Given the description of an element on the screen output the (x, y) to click on. 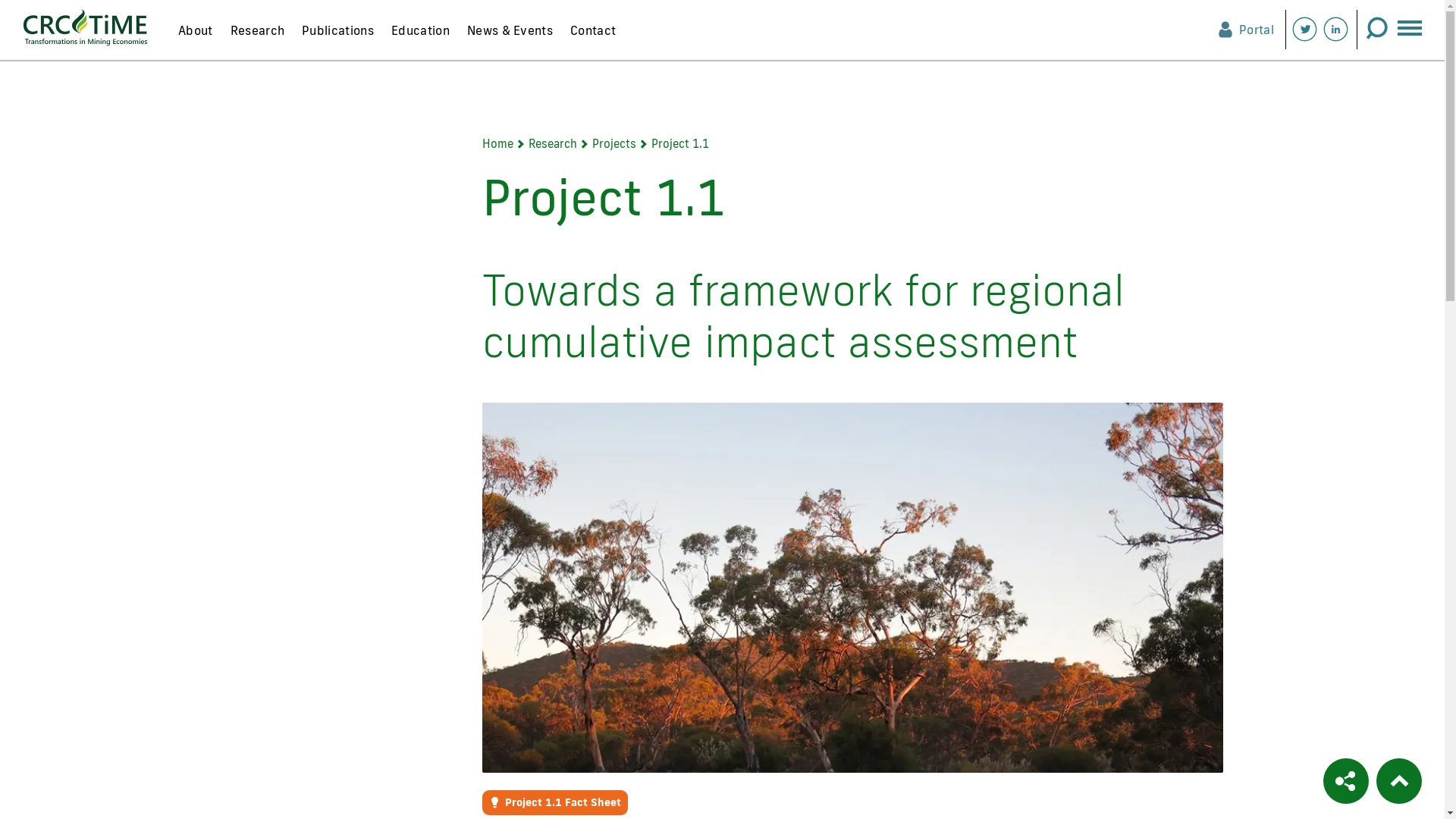
Publications Element type: text (336, 38)
Back to Top Element type: text (1398, 780)
Project 1.1 Fact Sheet Element type: text (554, 802)
LinkedIn Element type: text (1335, 28)
Search Element type: text (1375, 28)
Education Element type: text (419, 38)
About Element type: text (194, 38)
Research Element type: text (256, 38)
Research Element type: text (552, 143)
Projects Element type: text (614, 143)
share Element type: hover (1346, 780)
Contact Element type: text (591, 38)
News & Events Element type: text (508, 38)
Home Element type: text (497, 143)
Twitter Element type: text (1304, 28)
Menu Element type: text (1408, 23)
Portal Element type: text (1225, 28)
